Given the description of an element on the screen output the (x, y) to click on. 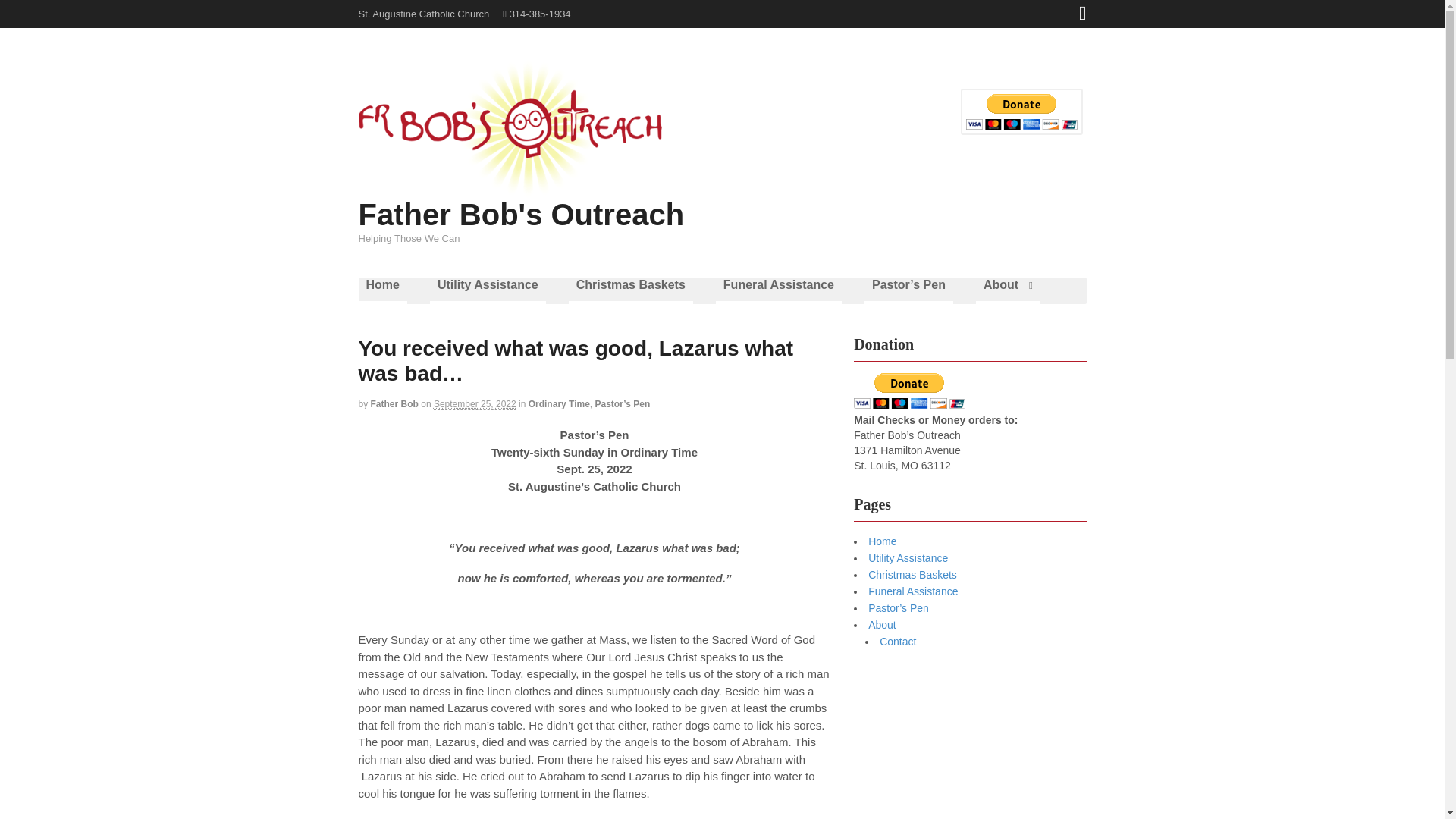
Utility Assistance (487, 290)
Funeral Assistance (778, 290)
Father Bob's Outreach (521, 214)
Christmas Baskets (911, 574)
Utility Assistance (907, 558)
Home (881, 541)
Contact (897, 641)
Home (382, 290)
Funeral Assistance (912, 591)
Christmas Baskets (631, 290)
Father Bob (395, 403)
Posts by Father Bob (395, 403)
About (1008, 290)
Helping Those We Can (509, 191)
View all items in Ordinary Time (558, 403)
